Given the description of an element on the screen output the (x, y) to click on. 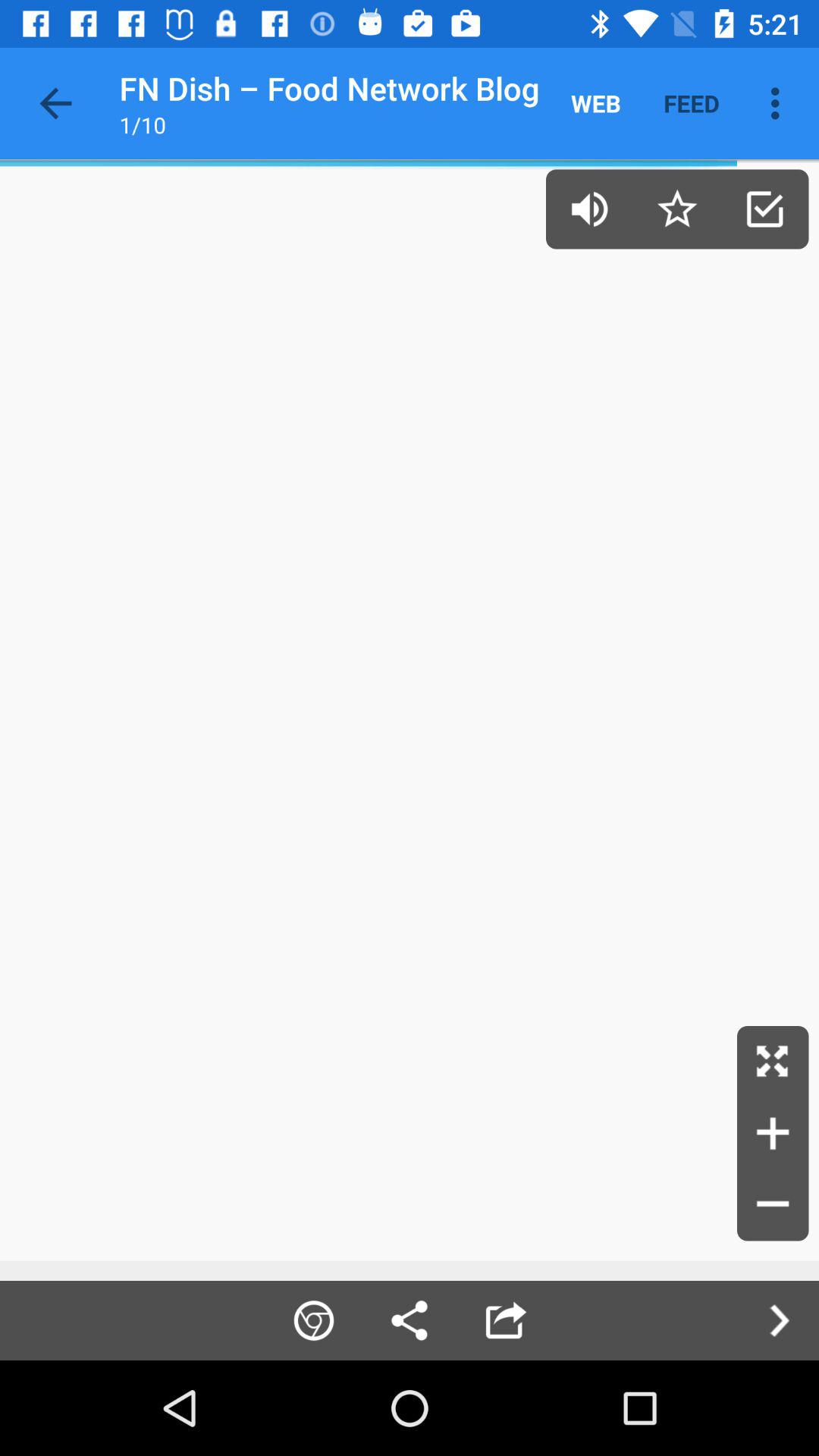
mute audio (589, 209)
